Given the description of an element on the screen output the (x, y) to click on. 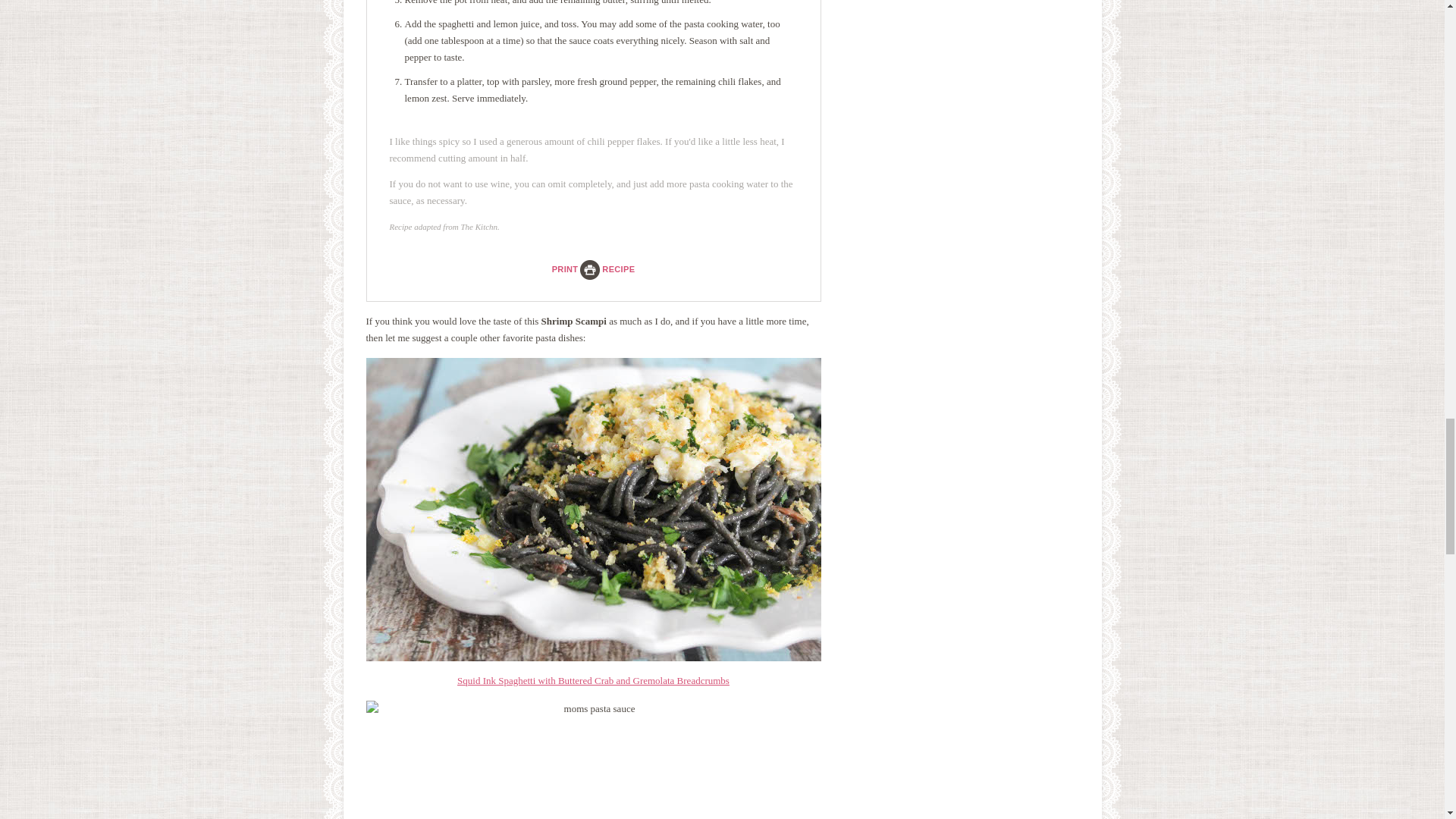
Print Recipe (592, 268)
PRINTRECIPE (592, 268)
